Given the description of an element on the screen output the (x, y) to click on. 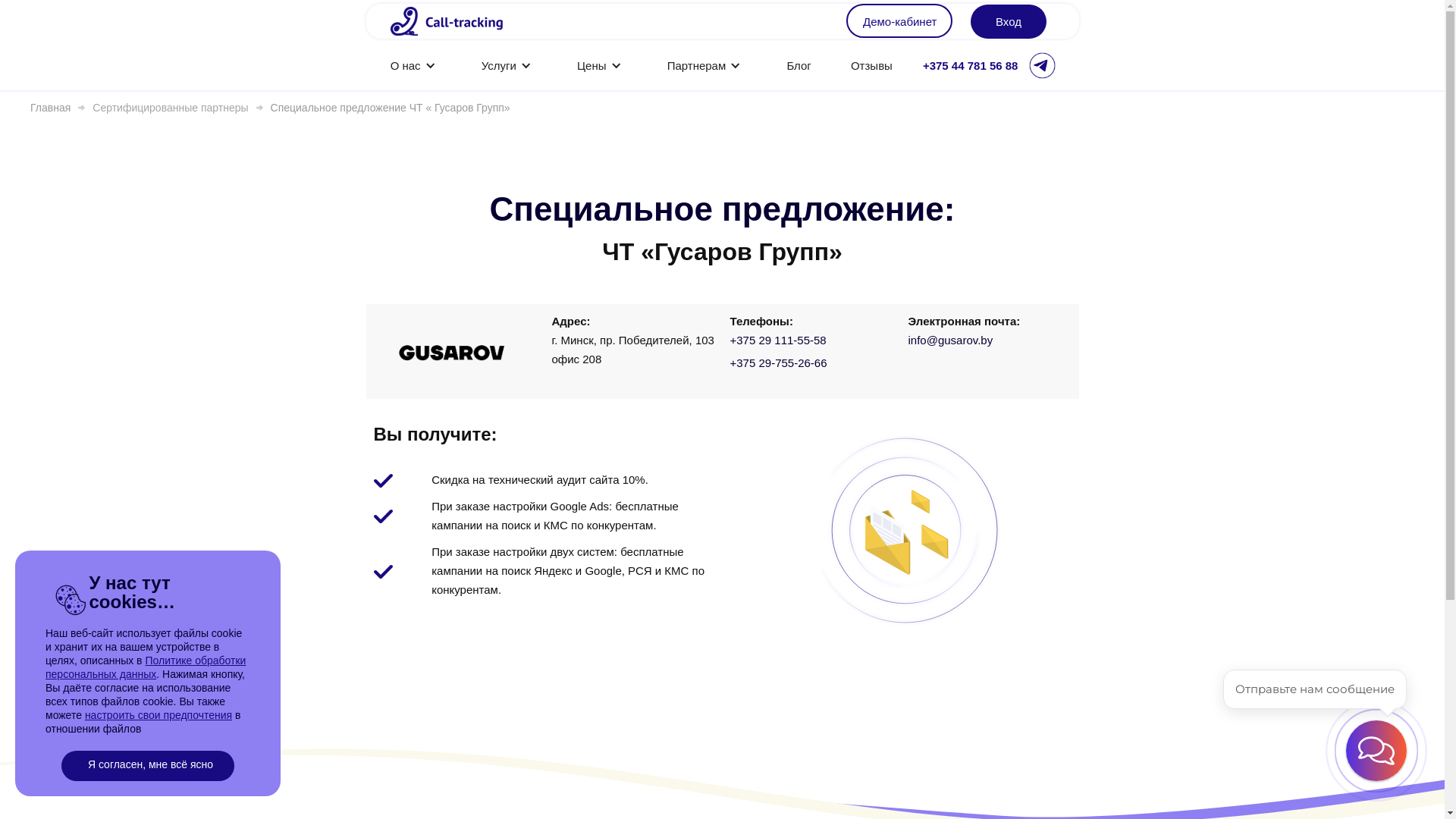
+375 44 781 56 88 Element type: text (970, 65)
